Given the description of an element on the screen output the (x, y) to click on. 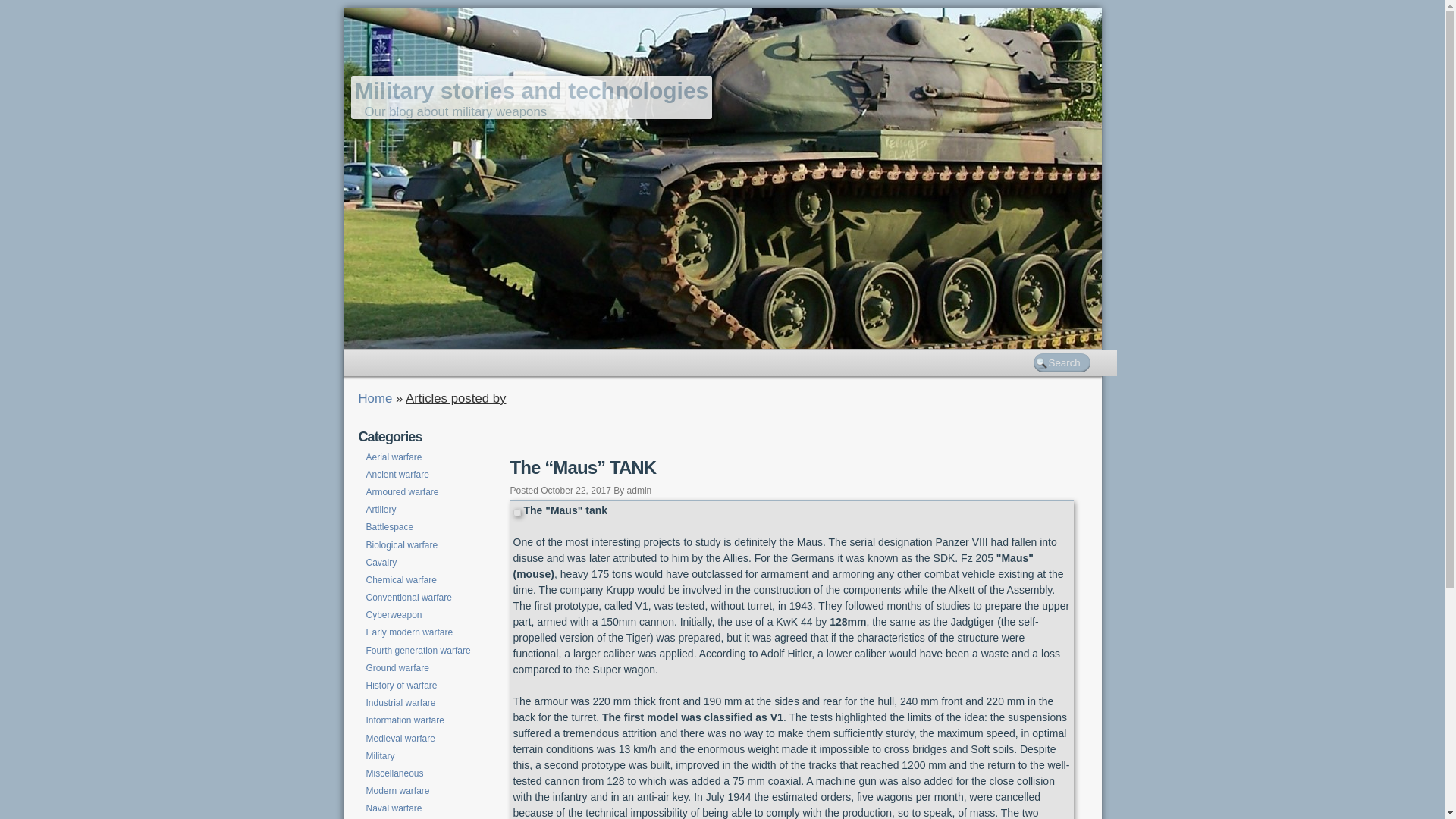
Home Element type: text (374, 398)
Naval warfare Element type: text (393, 808)
Battlespace Element type: text (389, 526)
Industrial warfare Element type: text (400, 702)
Aerial warfare Element type: text (393, 456)
Cyberweapon Element type: text (393, 614)
Artillery Element type: text (380, 509)
Miscellaneous Element type: text (394, 773)
Ground warfare Element type: text (396, 667)
Chemical warfare Element type: text (400, 579)
Medieval warfare Element type: text (399, 738)
Information warfare Element type: text (404, 720)
Conventional warfare Element type: text (408, 597)
History of warfare Element type: text (400, 685)
Early modern warfare Element type: text (408, 632)
Modern warfare Element type: text (397, 790)
Fourth generation warfare Element type: text (417, 650)
Ancient warfare Element type: text (396, 474)
Cavalry Element type: text (380, 562)
Biological warfare Element type: text (401, 544)
Armoured warfare Element type: text (401, 491)
Military Element type: text (379, 755)
Military stories and technologies Element type: text (531, 90)
